Given the description of an element on the screen output the (x, y) to click on. 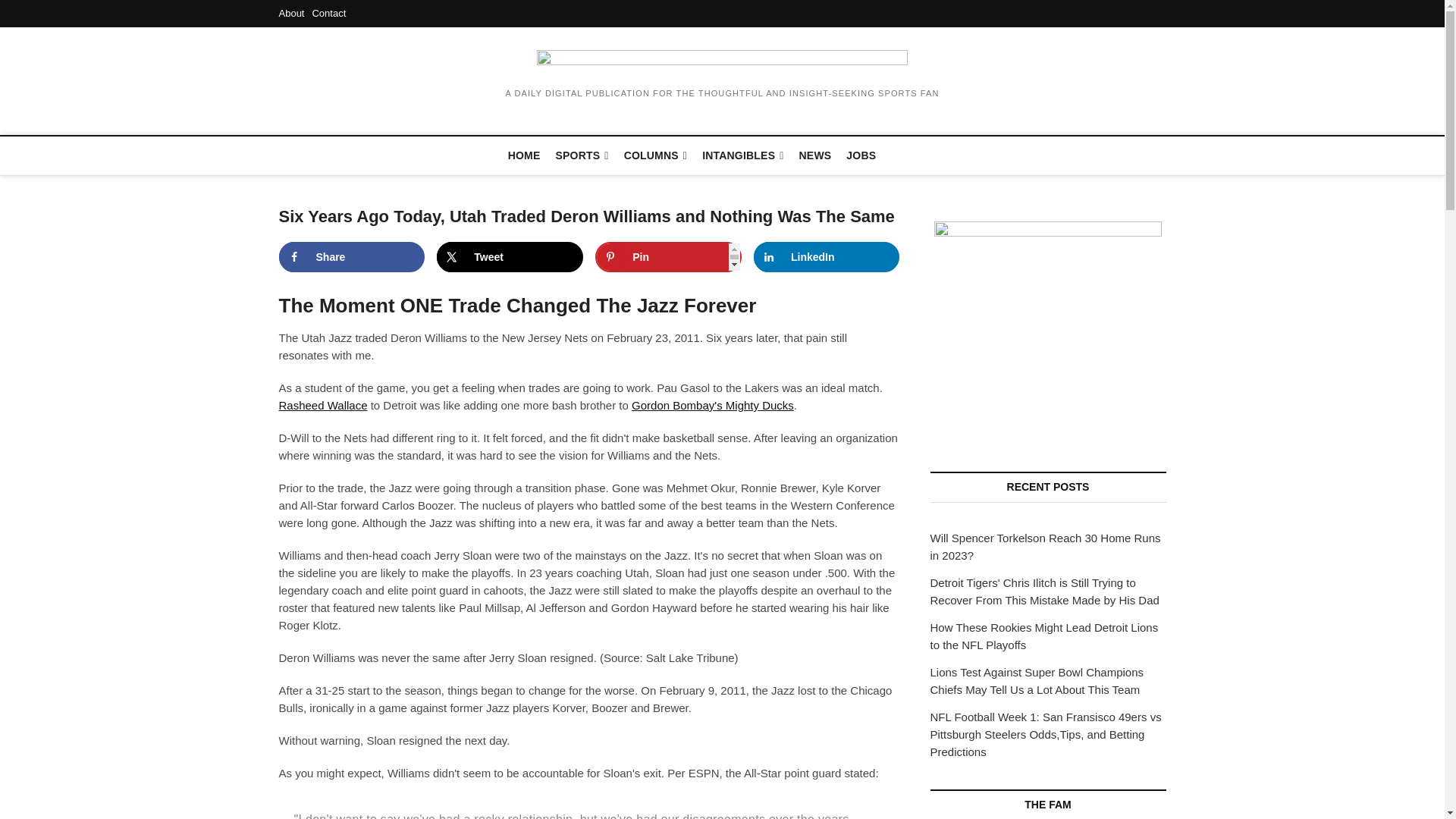
JOBS (860, 155)
HOME (524, 155)
Share (352, 256)
Tweet (509, 256)
Share on X (509, 256)
Save to Pinterest (668, 256)
Share on Facebook (352, 256)
COLUMNS (655, 155)
SPORTS (581, 155)
Contact (328, 12)
